Given the description of an element on the screen output the (x, y) to click on. 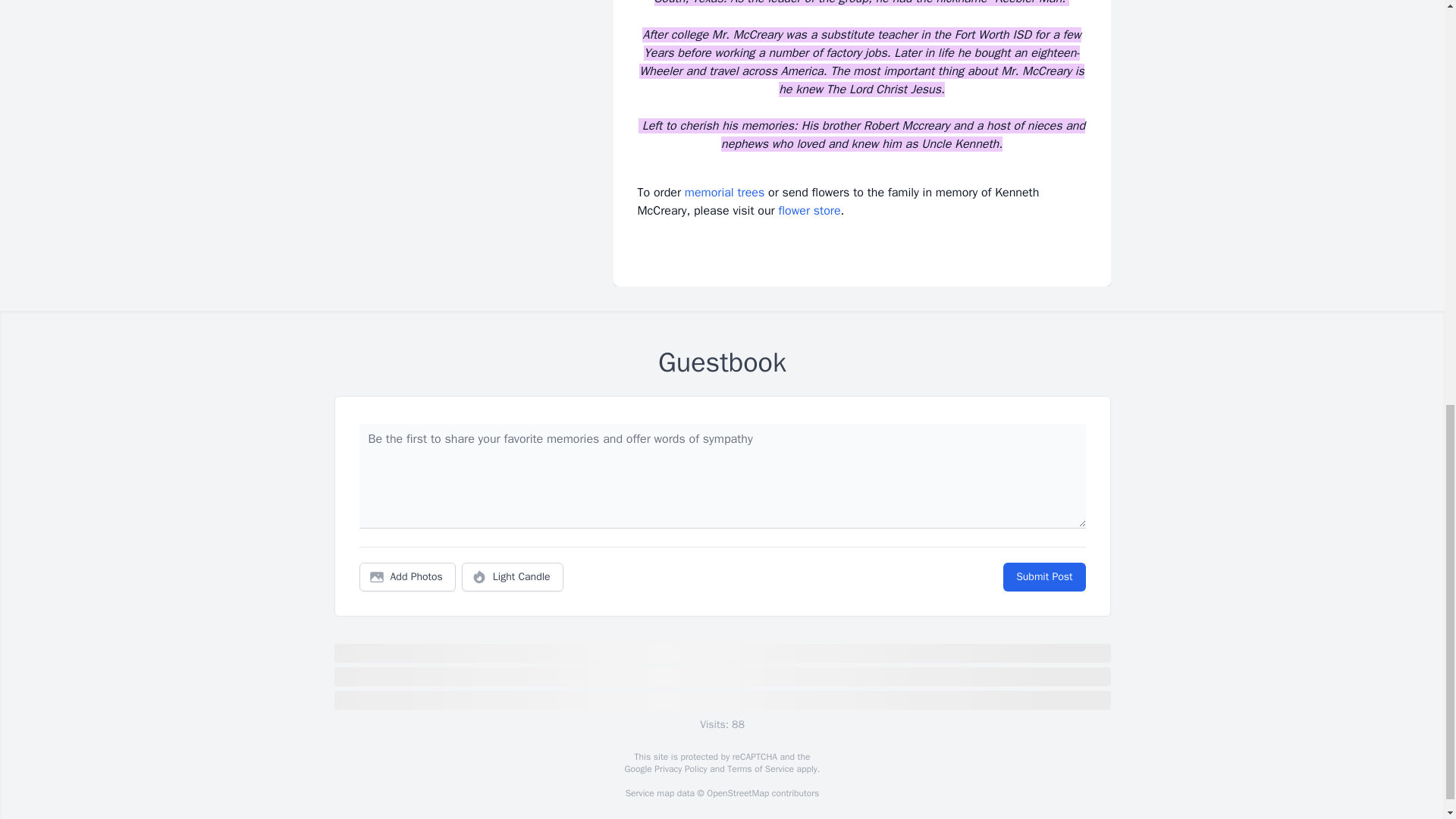
OpenStreetMap (737, 793)
Privacy Policy (679, 768)
flower store (808, 210)
Terms of Service (759, 768)
Add Photos (407, 576)
Submit Post (1043, 576)
memorial trees (724, 192)
Light Candle (512, 576)
